Given the description of an element on the screen output the (x, y) to click on. 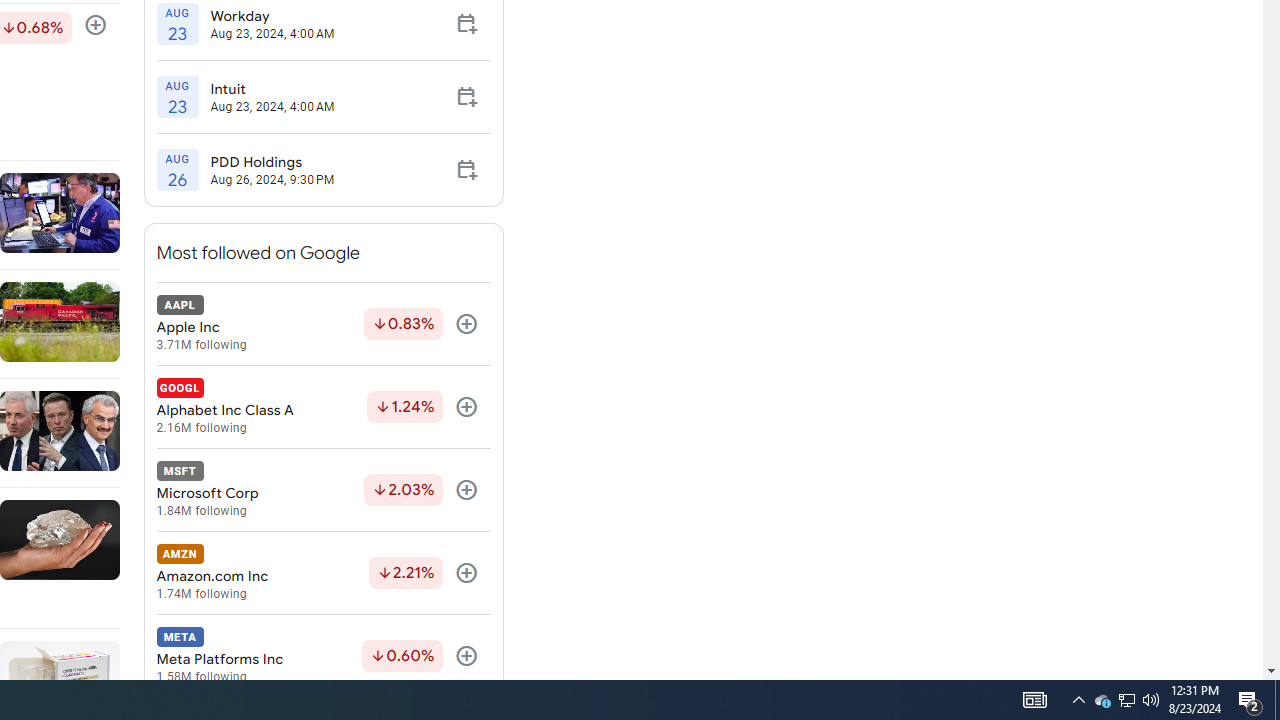
Follow (466, 656)
AMZN Amazon.com Inc 1.74M following Down by 2.21% Follow (323, 573)
Workday (272, 15)
AAPL Apple Inc 3.71M following Down by 0.83% Follow (323, 323)
PDD Holdings (272, 161)
MSFT Microsoft Corp 1.84M following Down by 2.03% Follow (323, 490)
Intuit (272, 89)
Add to calendar (466, 169)
META Meta Platforms Inc 1.58M following Down by 0.60% Follow (323, 655)
